Given the description of an element on the screen output the (x, y) to click on. 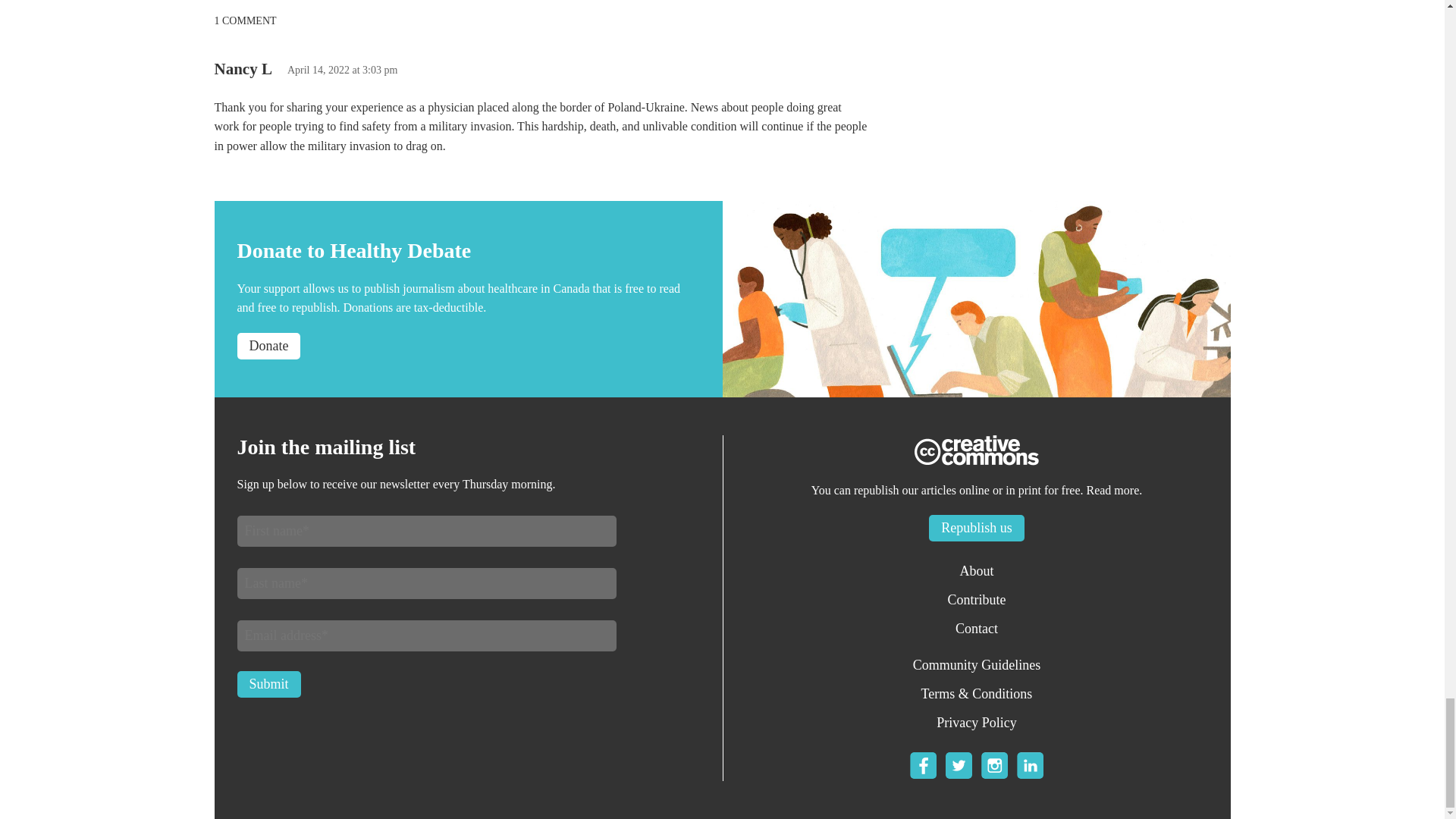
Submit (267, 683)
